Given the description of an element on the screen output the (x, y) to click on. 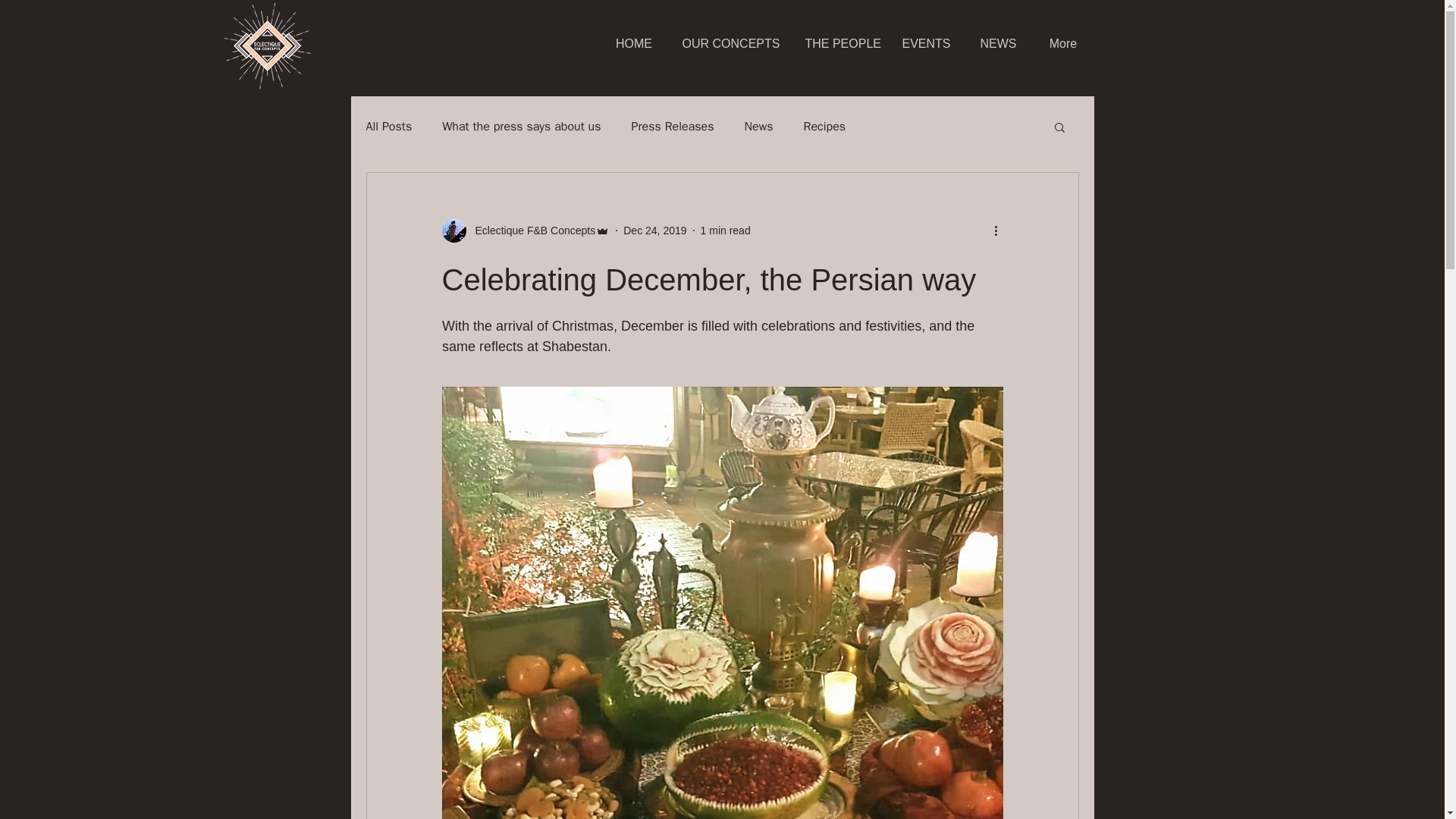
1 min read (725, 230)
EVENTS (925, 44)
OUR CONCEPTS (730, 44)
All Posts (388, 125)
News (758, 125)
Dec 24, 2019 (654, 230)
Recipes (824, 125)
THE PEOPLE (840, 44)
What the press says about us (520, 125)
HOME (633, 44)
NEWS (997, 44)
Press Releases (672, 125)
